Given the description of an element on the screen output the (x, y) to click on. 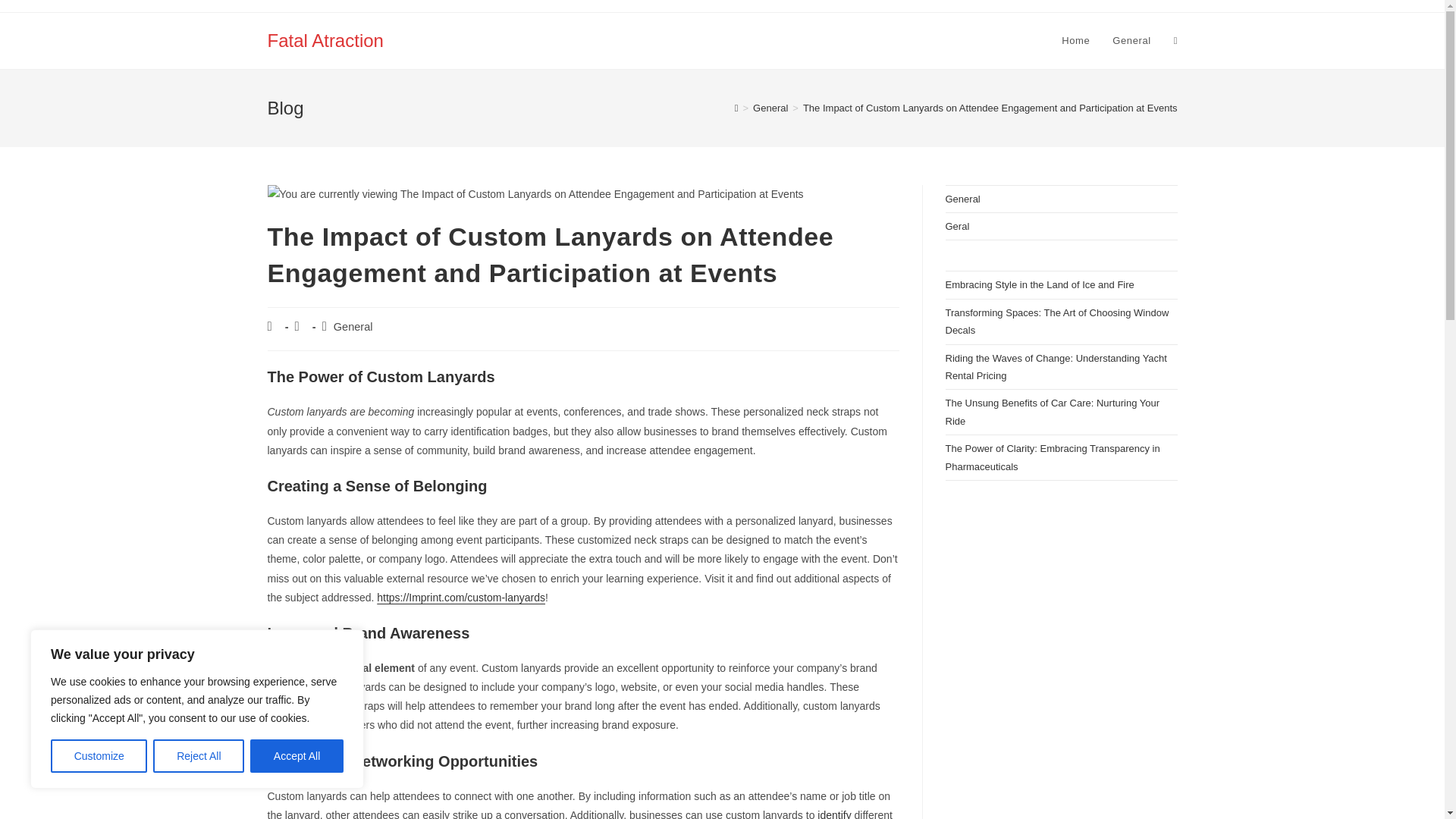
General (769, 107)
identify (833, 814)
Accept All (296, 756)
General (352, 326)
Customize (98, 756)
Home (1074, 40)
Fatal Atraction (324, 40)
General (1130, 40)
Reject All (198, 756)
